Given the description of an element on the screen output the (x, y) to click on. 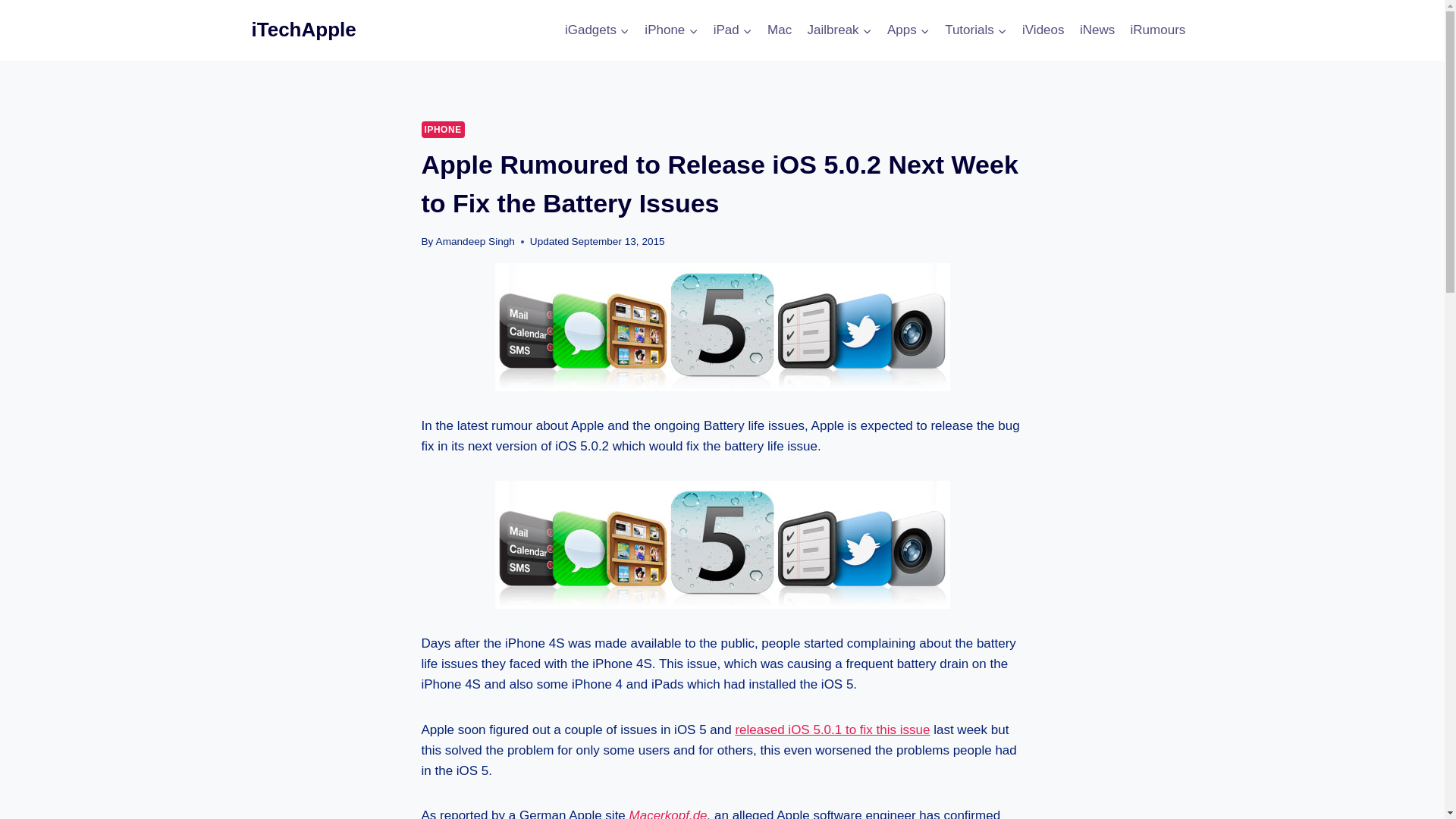
iNews (1096, 30)
Apps (908, 30)
Jailbreak (839, 30)
released iOS 5.0.1 to fix this issue (832, 728)
Amandeep Singh (475, 241)
iGadgets (597, 30)
iTechApple (303, 29)
iPad (731, 30)
Tutorials (975, 30)
iRumours (1157, 30)
iPhone (670, 30)
Apple iOS5 battery issue fix (722, 544)
IPHONE (443, 129)
Mac (779, 30)
iVideos (1042, 30)
